Given the description of an element on the screen output the (x, y) to click on. 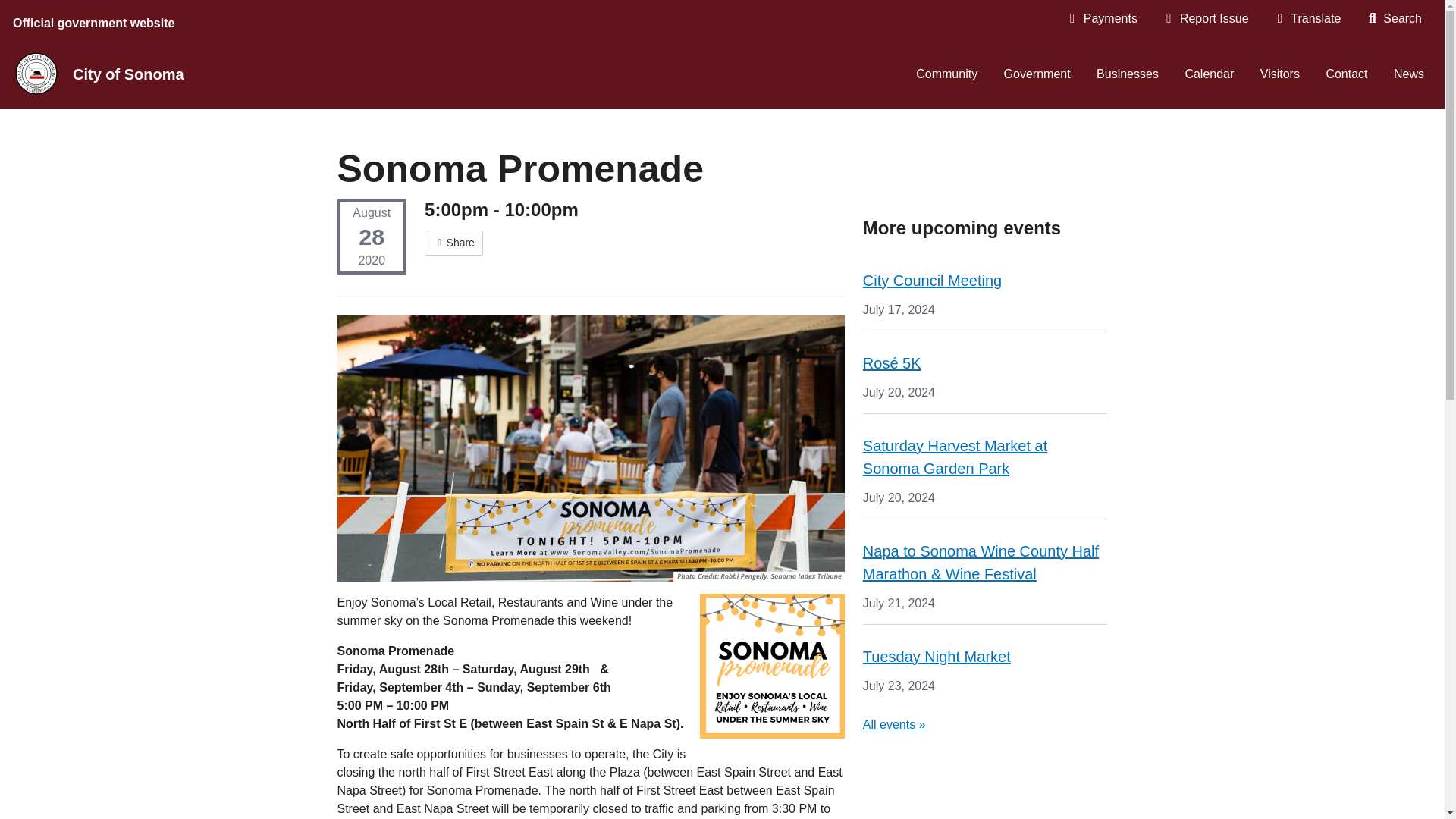
Community (946, 74)
Saturday Harvest Market at Sonoma Garden Park (954, 456)
Businesses (1127, 74)
Government (1036, 74)
Translate (1308, 18)
City of Sonoma (133, 74)
Visitors (1280, 74)
Official government website (96, 19)
Share (454, 242)
Search (1394, 18)
Contact (1346, 74)
Report Issue (1206, 18)
Home (36, 73)
Payments (1102, 18)
Report Issue (1206, 18)
